Given the description of an element on the screen output the (x, y) to click on. 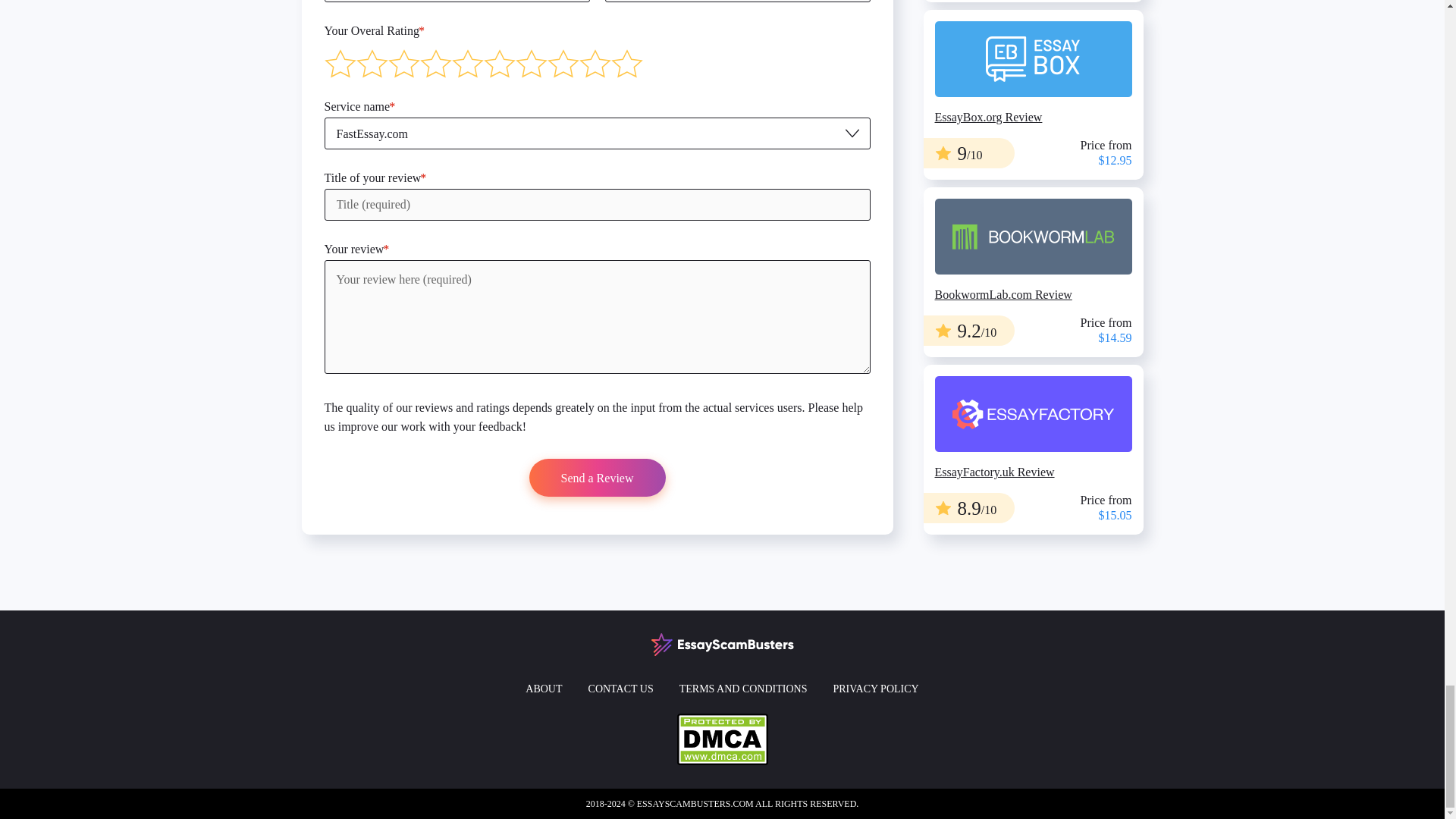
PRIVACY POLICY (875, 688)
ABOUT (543, 688)
EssayScamBusters.com (721, 643)
CONTACT US (620, 688)
TERMS AND CONDITIONS (743, 688)
Send a Review (597, 477)
DMCA.com Protection Status (722, 738)
